Given the description of an element on the screen output the (x, y) to click on. 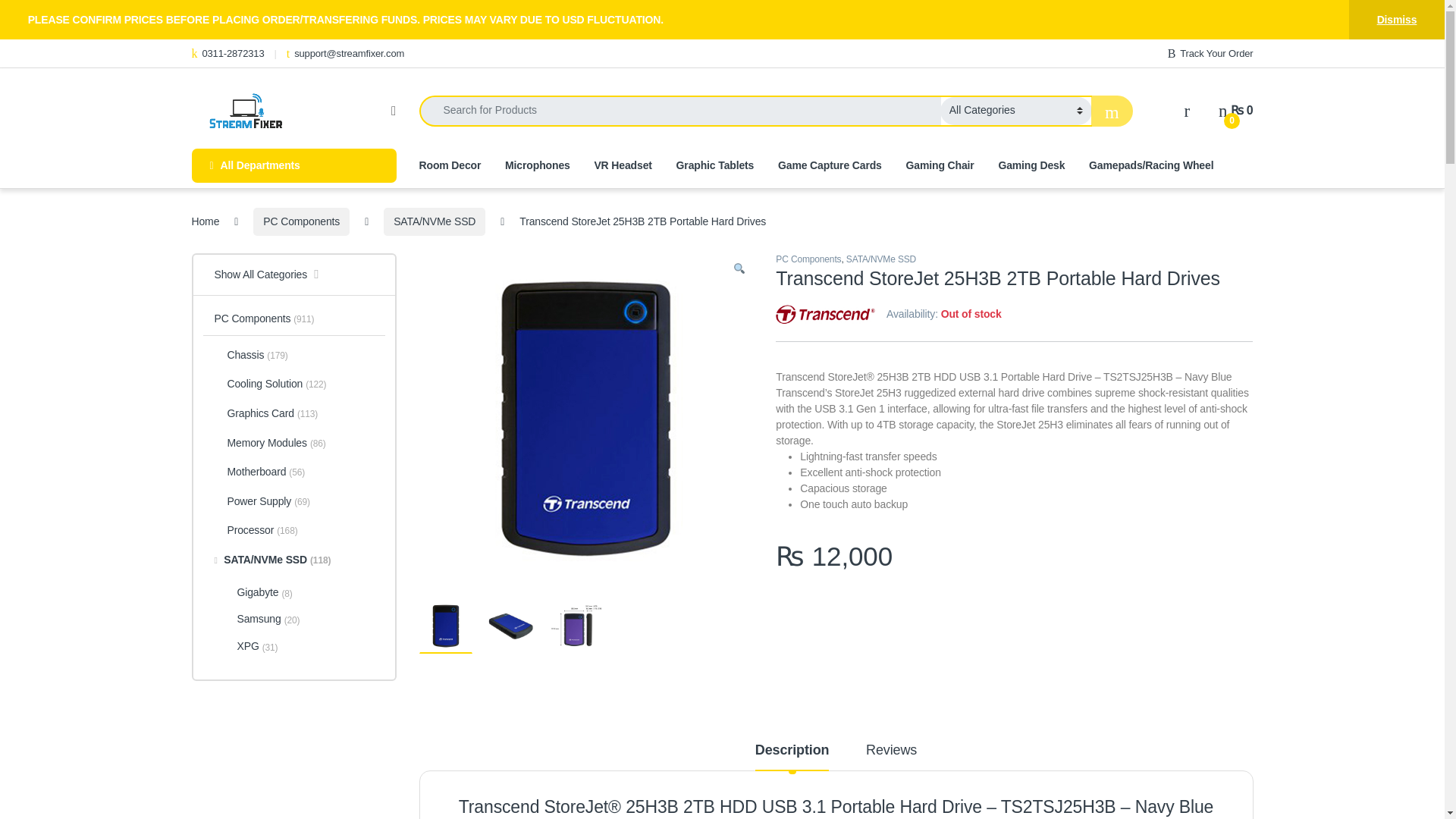
0311-2872313 (226, 53)
0311-2872313 (226, 53)
Track Your Order (1210, 53)
Track Your Order (1210, 53)
